Given the description of an element on the screen output the (x, y) to click on. 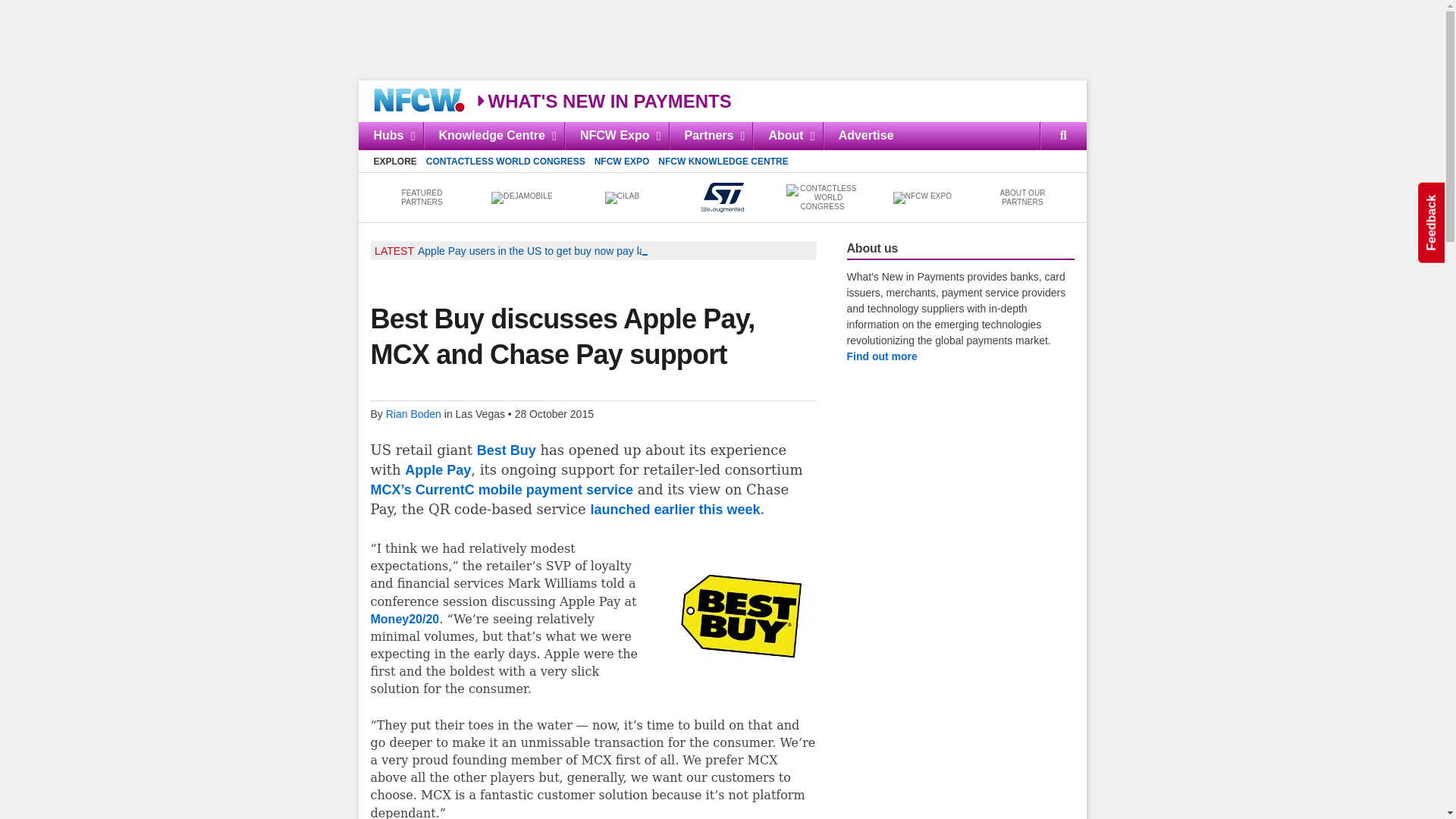
STMicroelectronics (721, 197)
7 June 2022, 14:16 BST (581, 250)
Partners (710, 135)
Knowledge Centre (493, 135)
28 October 2015, 11:28 GMT (554, 413)
NFCW Expo (616, 135)
NFCW Expo (922, 197)
Cilab (622, 197)
WHAT'S NEW IN PAYMENTS (603, 100)
